Given the description of an element on the screen output the (x, y) to click on. 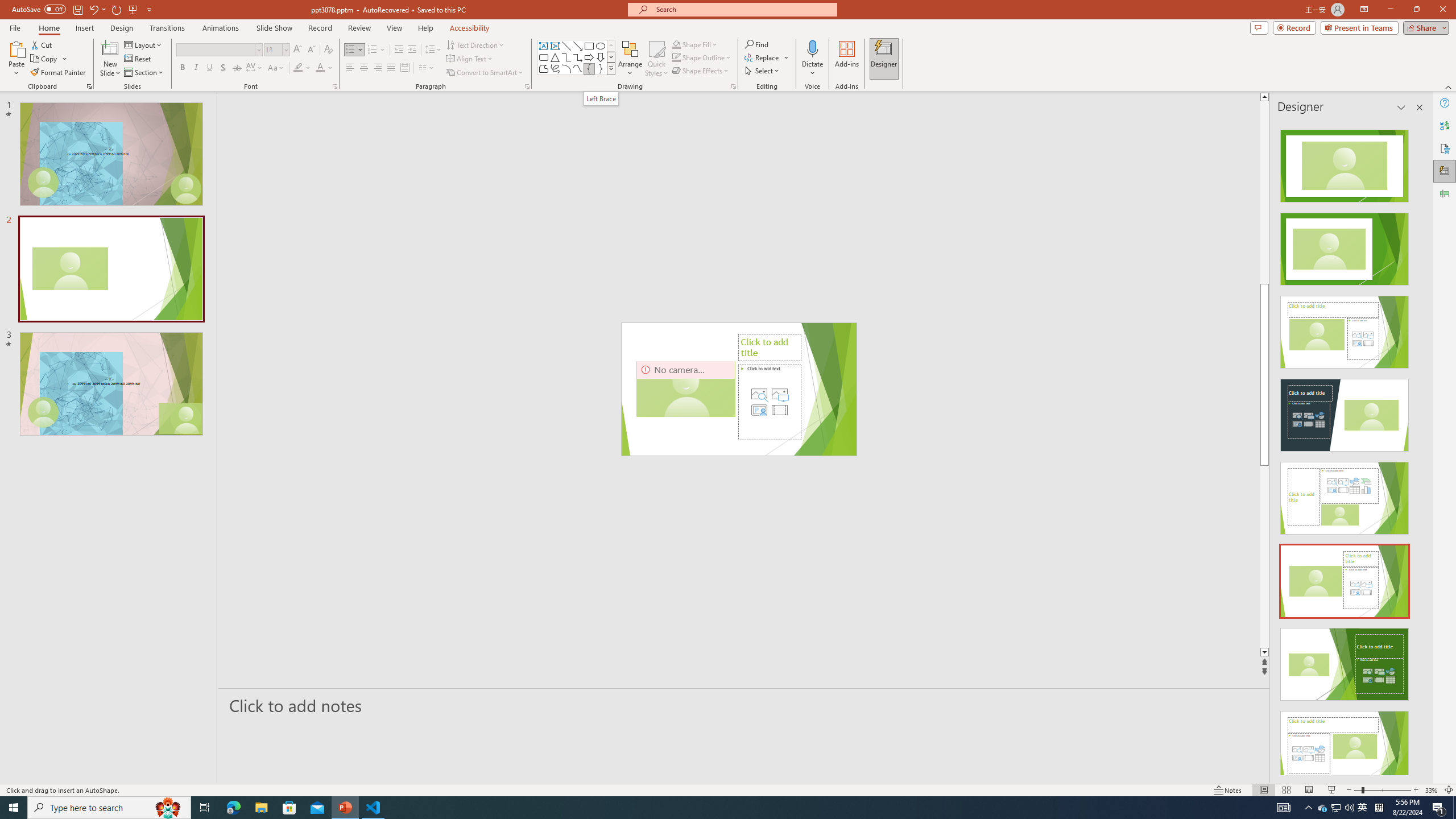
Shape Fill Dark Green, Accent 2 (675, 44)
Accessibility (1444, 147)
Line Arrow (577, 45)
Arrow: Right (589, 57)
Quick Styles (656, 58)
Reset (138, 58)
Class: MsoCommandBar (728, 789)
Camera 3, No camera detected. (685, 388)
Line Spacing (433, 49)
